Given the description of an element on the screen output the (x, y) to click on. 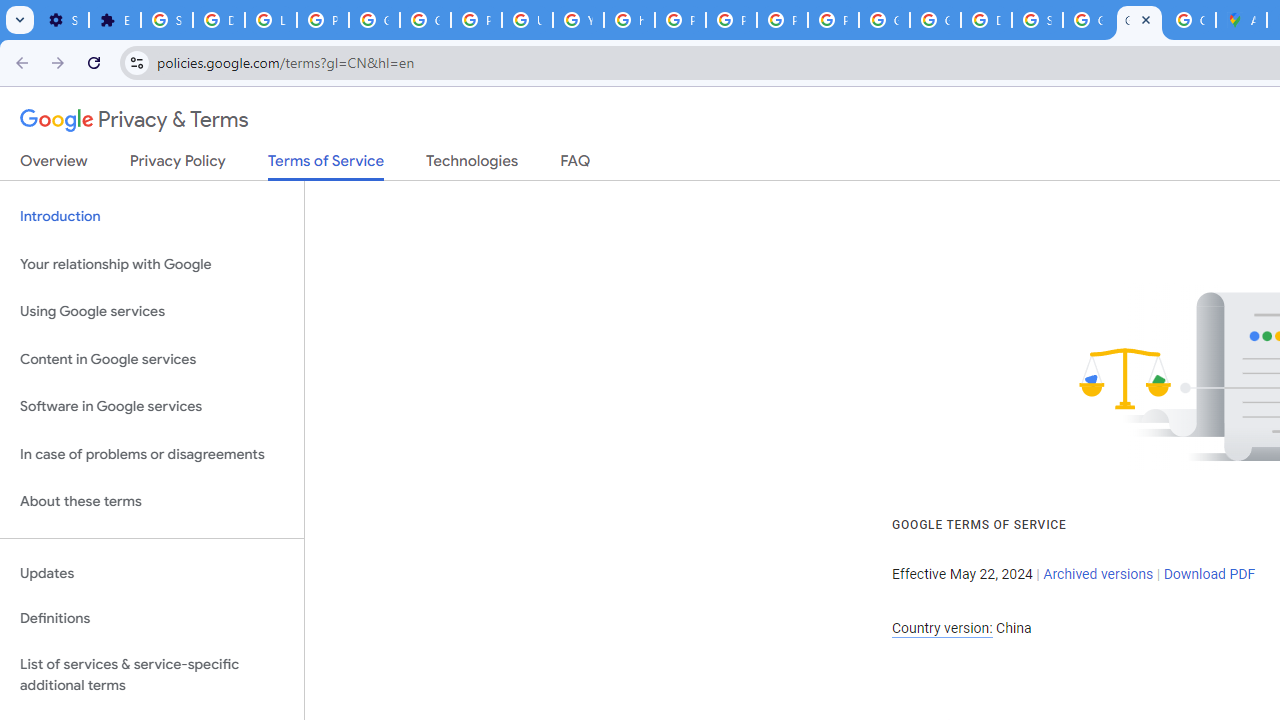
Using Google services (152, 312)
Sign in - Google Accounts (1037, 20)
About these terms (152, 502)
